Given the description of an element on the screen output the (x, y) to click on. 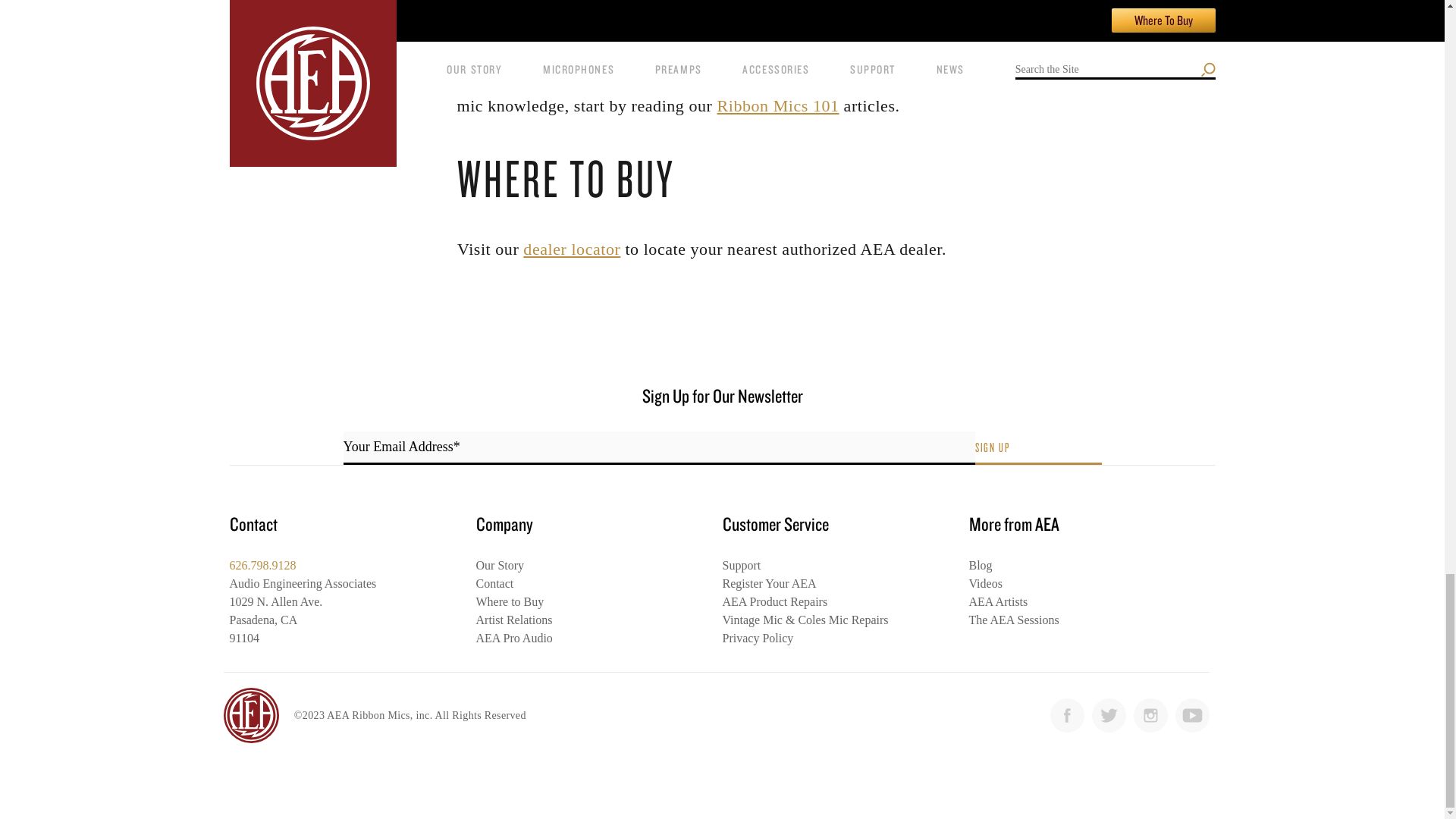
Sign Up (1038, 448)
